Given the description of an element on the screen output the (x, y) to click on. 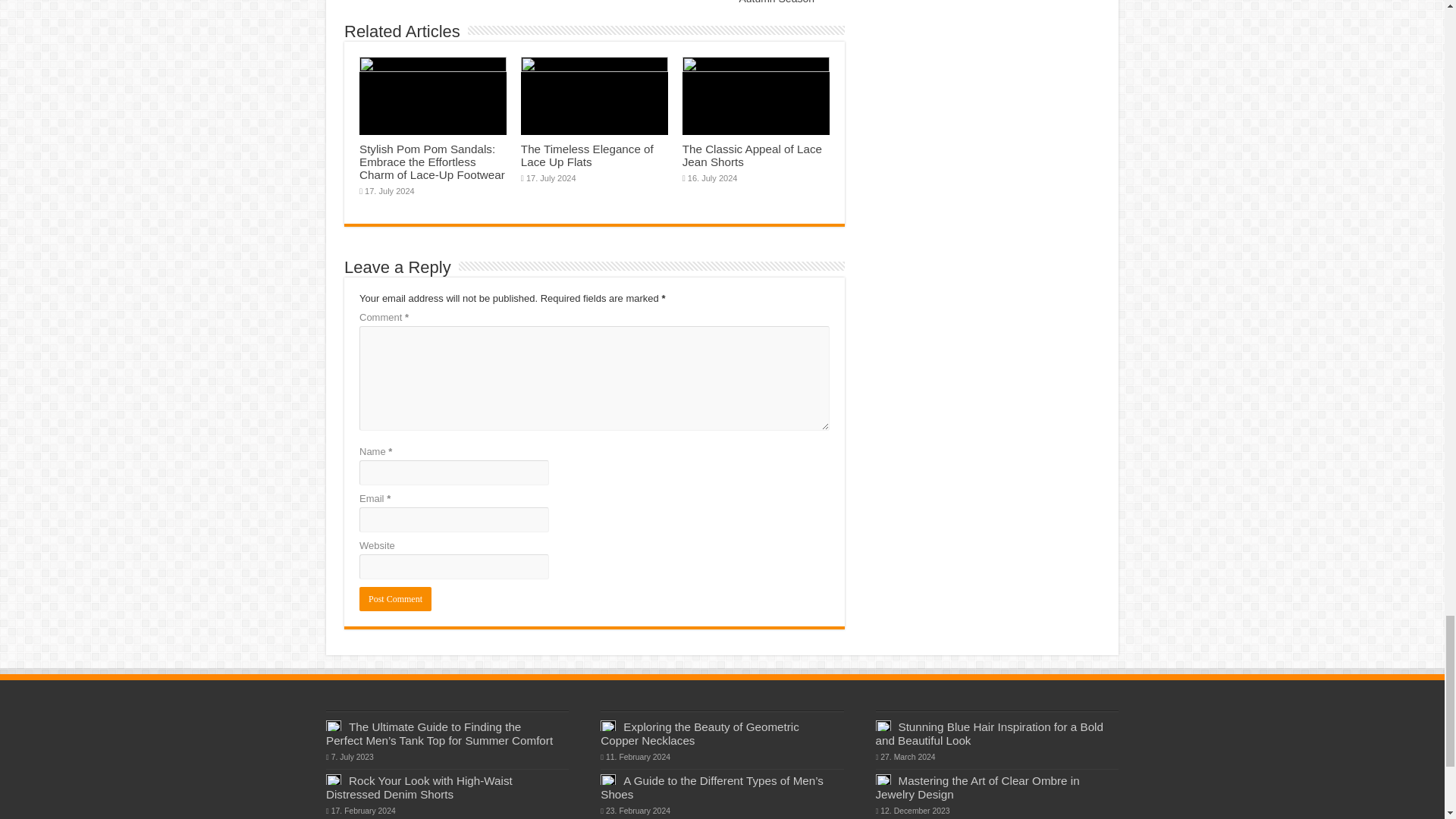
The Classic Appeal of Lace Jean Shorts (752, 155)
The Timeless Elegance of Lace Up Flats (587, 155)
Rock Your Look with High-Waist Distressed Denim Shorts (419, 786)
Post Comment (394, 598)
Exploring the Beauty of Geometric Copper Necklaces (699, 733)
Post Comment (394, 598)
